Given the description of an element on the screen output the (x, y) to click on. 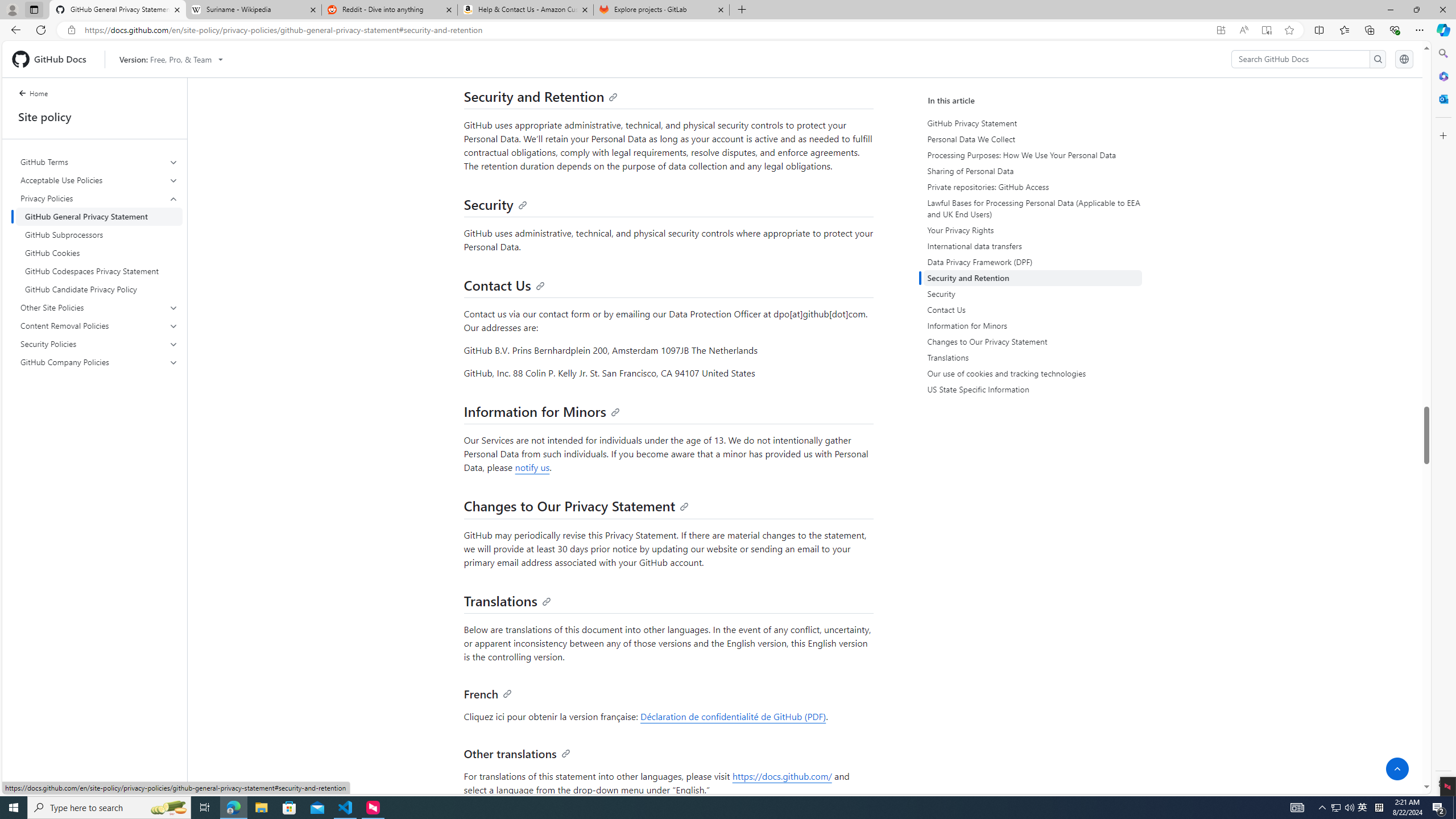
Contact Us (503, 285)
Other translations (516, 752)
Personal Data We Collect (1032, 139)
GitHub Privacy Statement (1034, 123)
Acceptable Use Policies (99, 180)
Personal Data We Collect (1034, 139)
Changes to Our Privacy Statement (1032, 341)
Search GitHub Docs (1300, 58)
Privacy Policies (99, 243)
Your Privacy Rights (1034, 230)
Data Privacy Framework (DPF) (1034, 261)
